Given the description of an element on the screen output the (x, y) to click on. 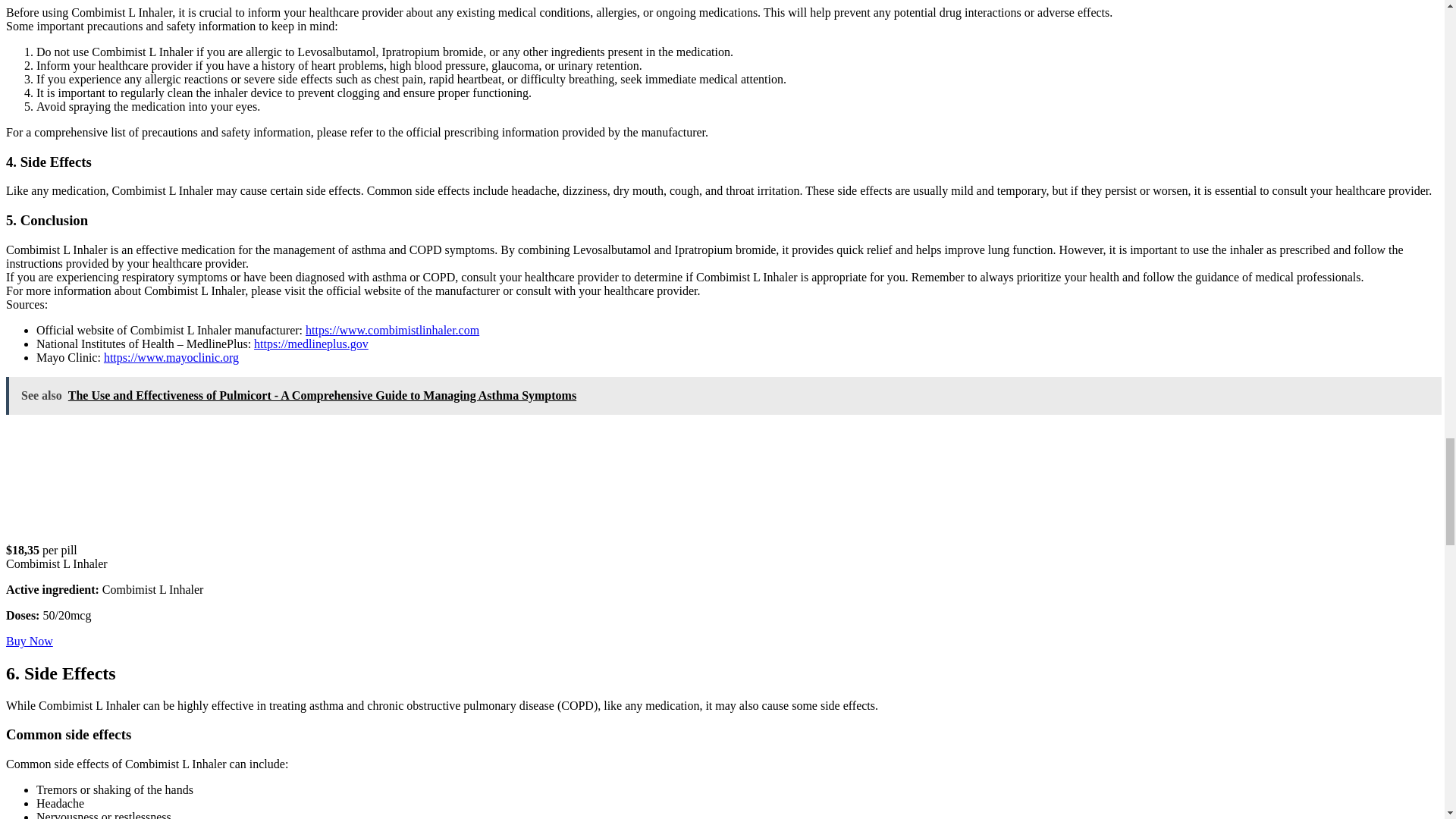
Buy Now (28, 640)
Buy Now (28, 640)
